Given the description of an element on the screen output the (x, y) to click on. 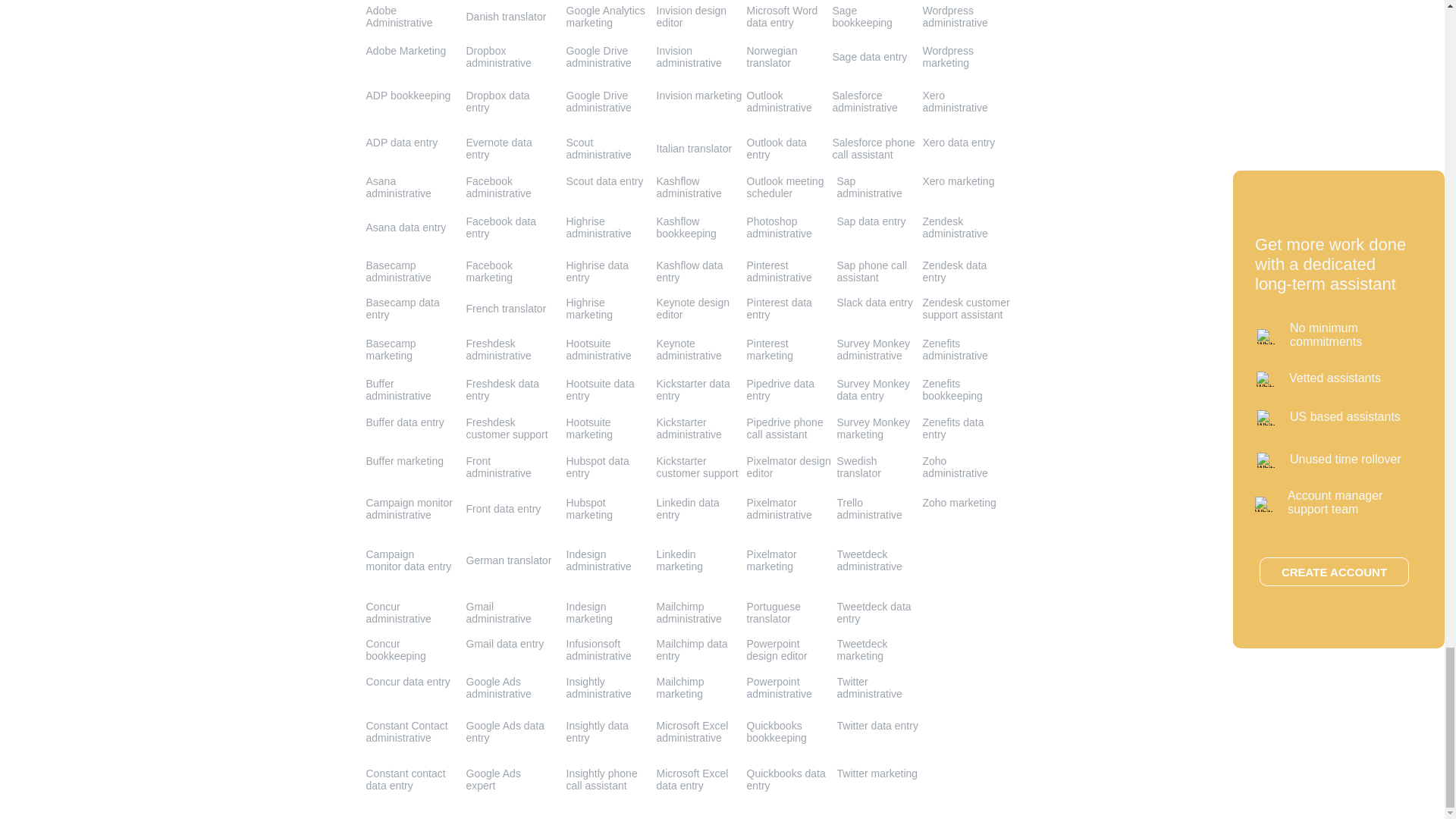
Microsoft Word data entry (780, 16)
Invision design editor (691, 16)
Adobe Administrative (398, 16)
Google Analytics marketing (605, 16)
Danish translator (505, 16)
